Given the description of an element on the screen output the (x, y) to click on. 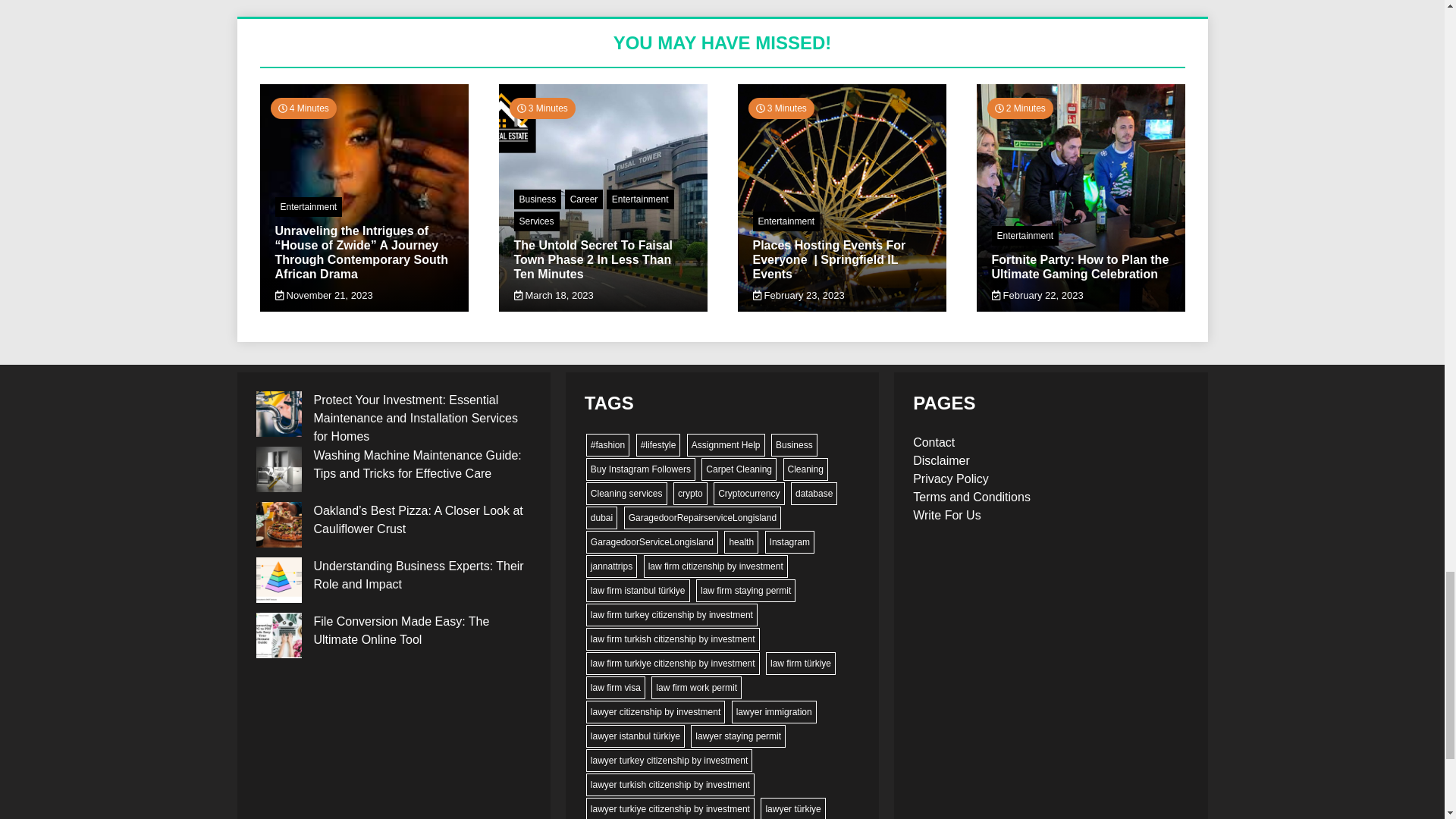
Estimated Reading Time of Article (780, 107)
Estimated Reading Time of Article (1019, 107)
Estimated Reading Time of Article (302, 107)
Estimated Reading Time of Article (542, 107)
